Given the description of an element on the screen output the (x, y) to click on. 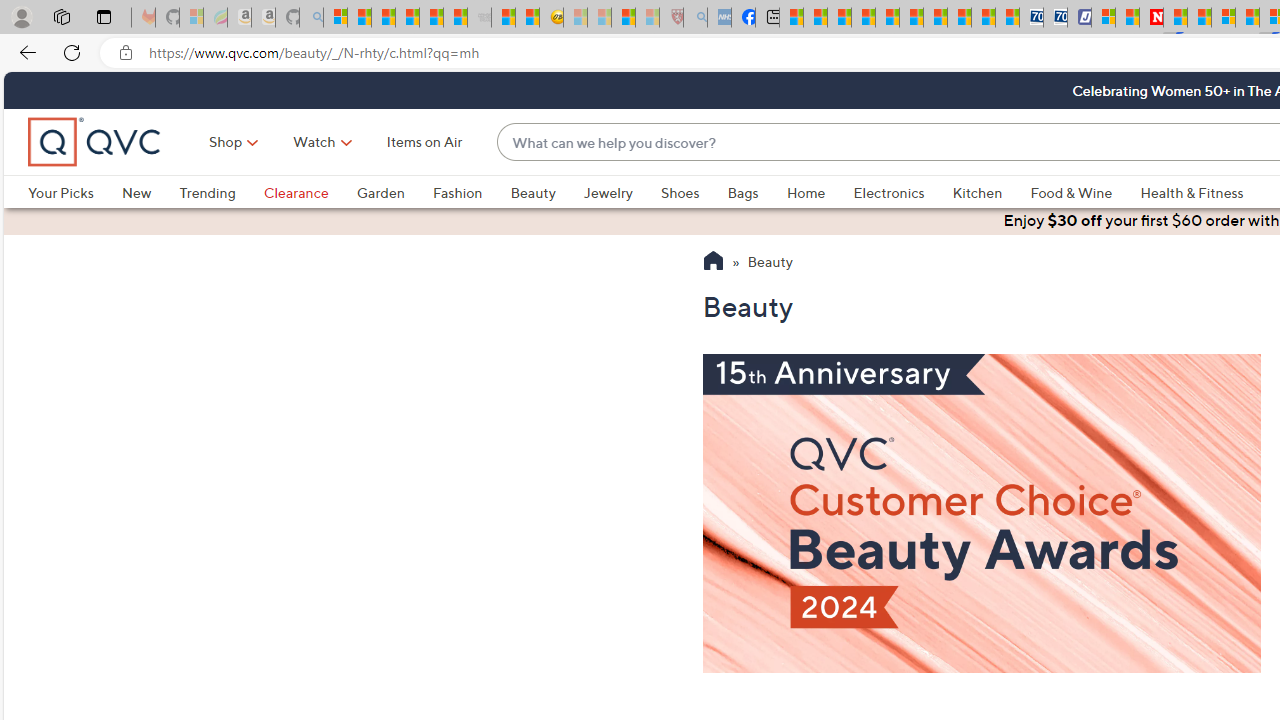
Clearance (309, 192)
14 Common Myths Debunked By Scientific Facts (1198, 17)
Shoes (694, 192)
Trending (221, 192)
QVC home (95, 141)
The Weather Channel - MSN (383, 17)
Electronics (902, 192)
QVC home (95, 141)
Climate Damage Becomes Too Severe To Reverse (863, 17)
